Given the description of an element on the screen output the (x, y) to click on. 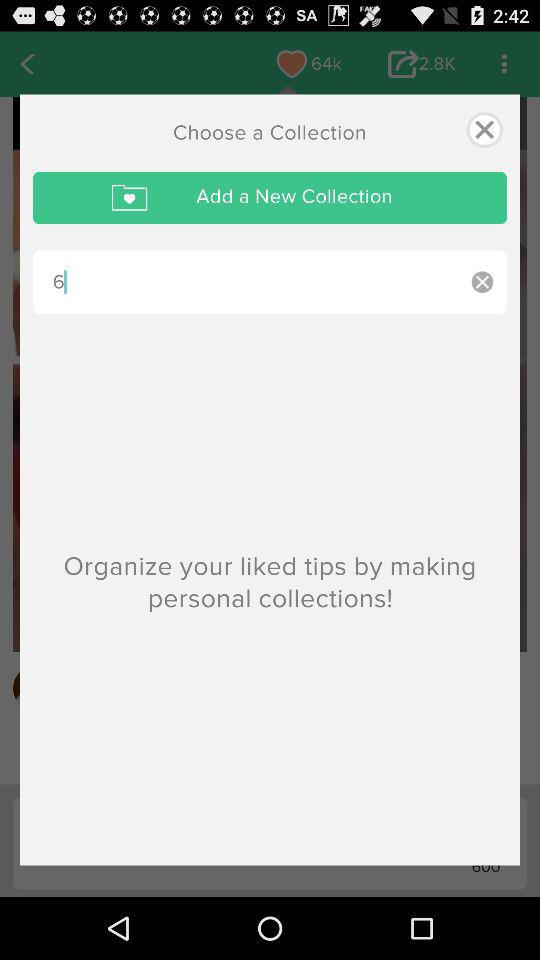
tap the item below add a new icon (482, 281)
